Given the description of an element on the screen output the (x, y) to click on. 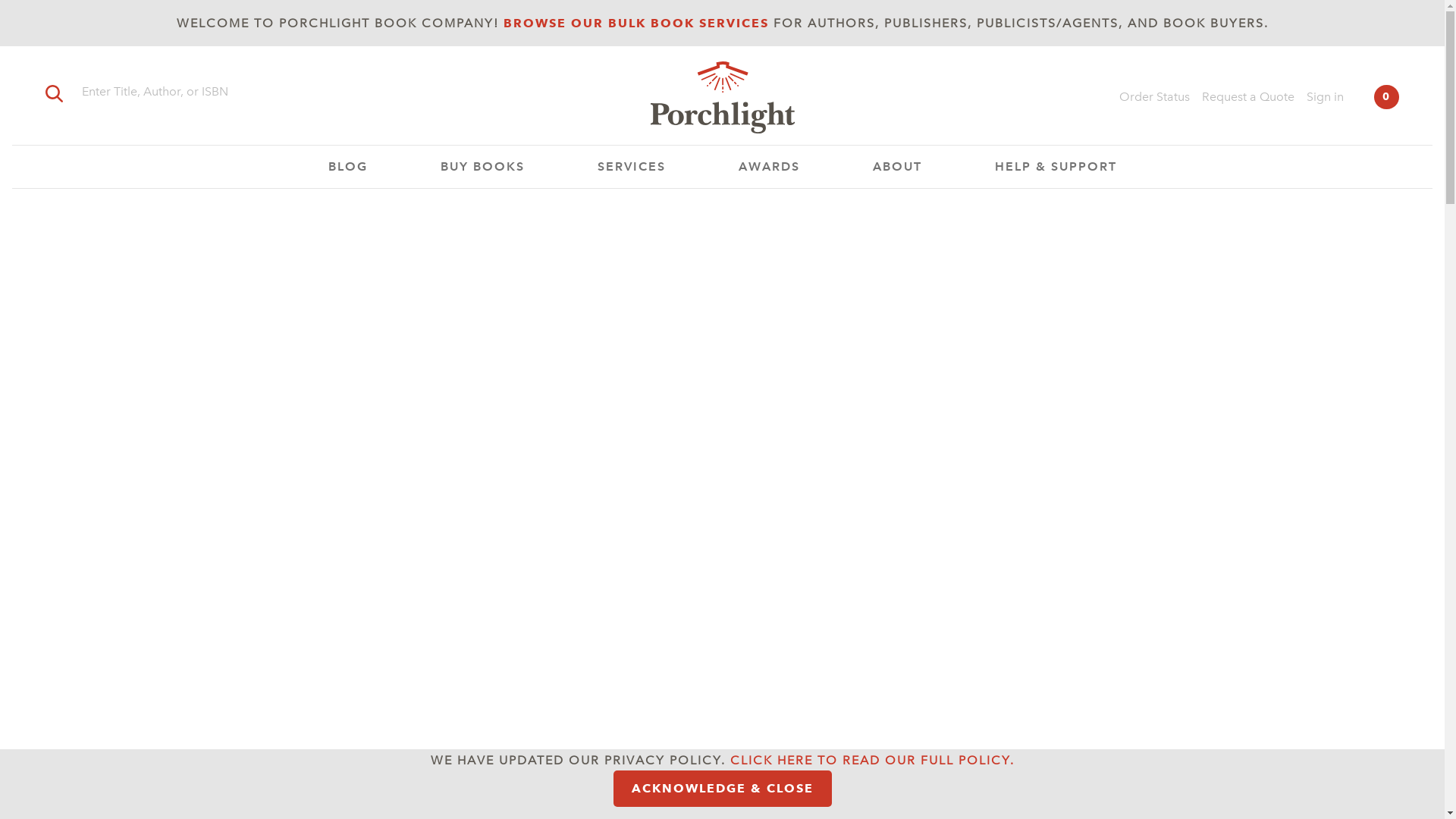
ABOUT Element type: text (896, 166)
HELP & SUPPORT Element type: text (1055, 166)
Sign in Element type: text (1324, 96)
BUY BOOKS Element type: text (481, 166)
CLICK HERE TO READ OUR FULL POLICY. Element type: text (871, 760)
BROWSE OUR BULK BOOK SERVICES Element type: text (635, 22)
Porchlight Element type: text (721, 99)
SERVICES Element type: text (631, 166)
0 Element type: text (1386, 96)
AWARDS Element type: text (769, 166)
Order Status Element type: text (1154, 96)
Request a Quote Element type: text (1247, 96)
BLOG Element type: text (347, 166)
ACKNOWLEDGE & CLOSE Element type: text (721, 788)
